Given the description of an element on the screen output the (x, y) to click on. 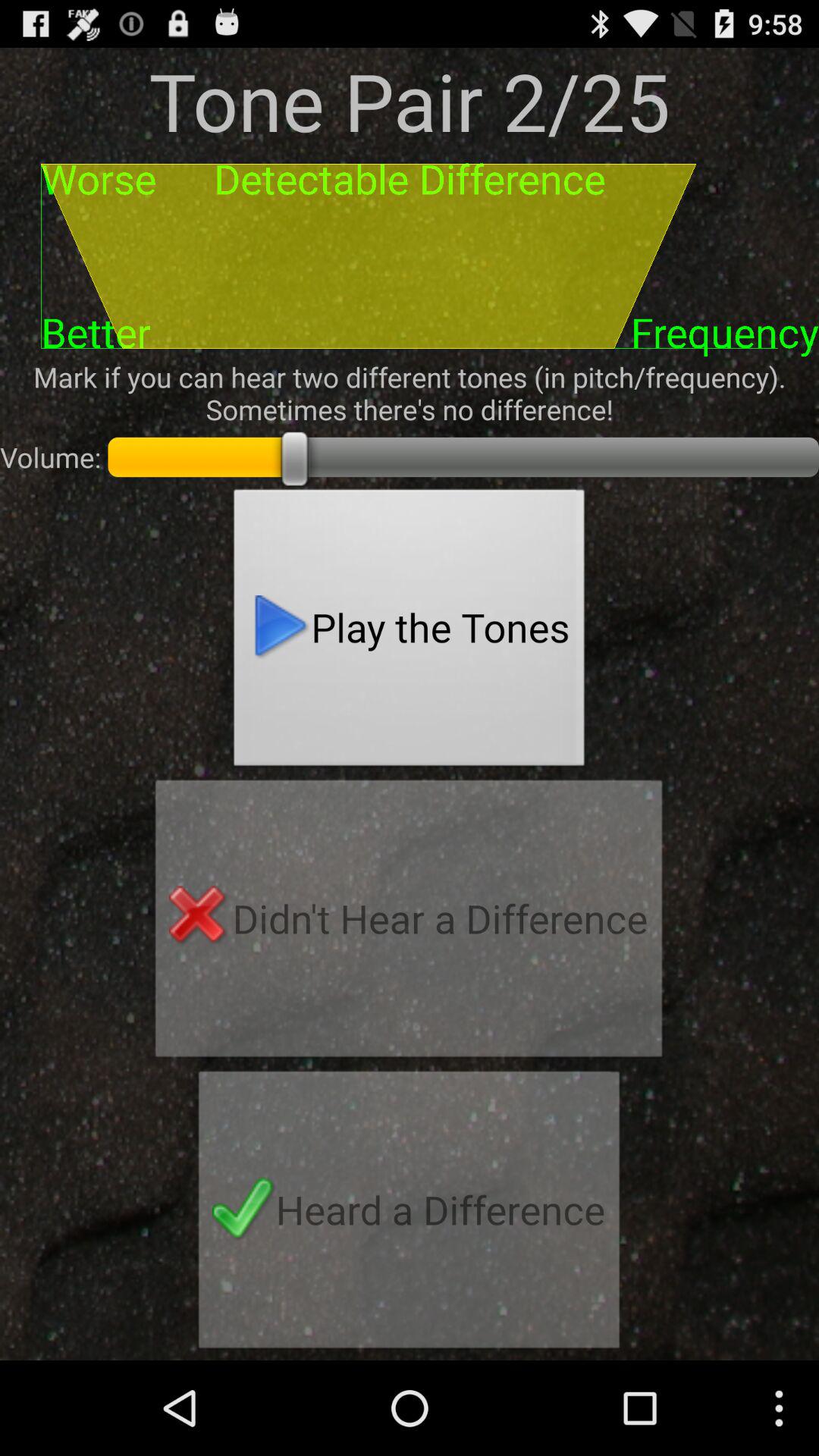
press the item below the play the tones (408, 922)
